Given the description of an element on the screen output the (x, y) to click on. 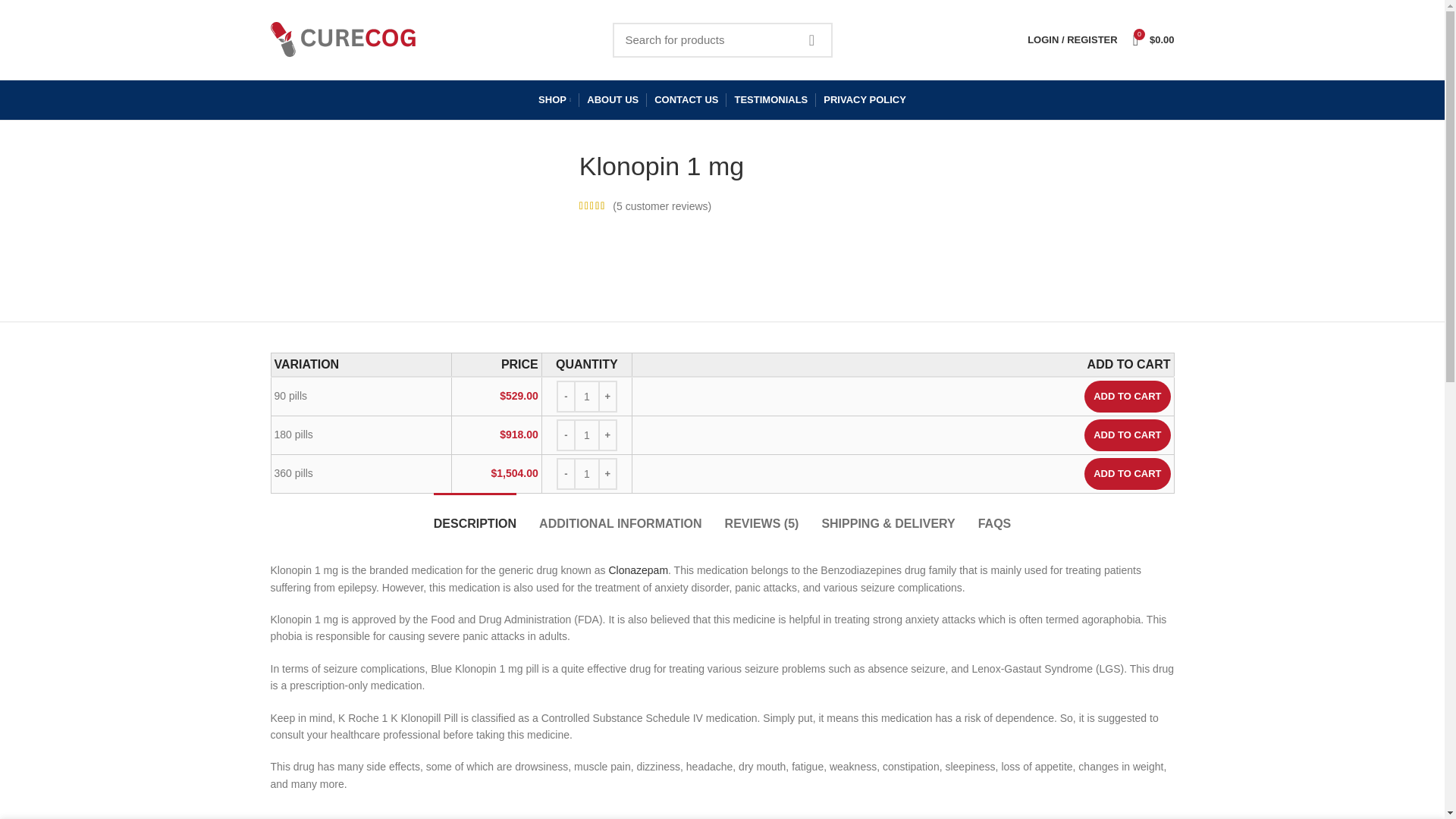
Search for products (722, 39)
SEARCH (812, 39)
Shopping cart (1153, 39)
My account (1072, 39)
SHOP (554, 100)
